Given the description of an element on the screen output the (x, y) to click on. 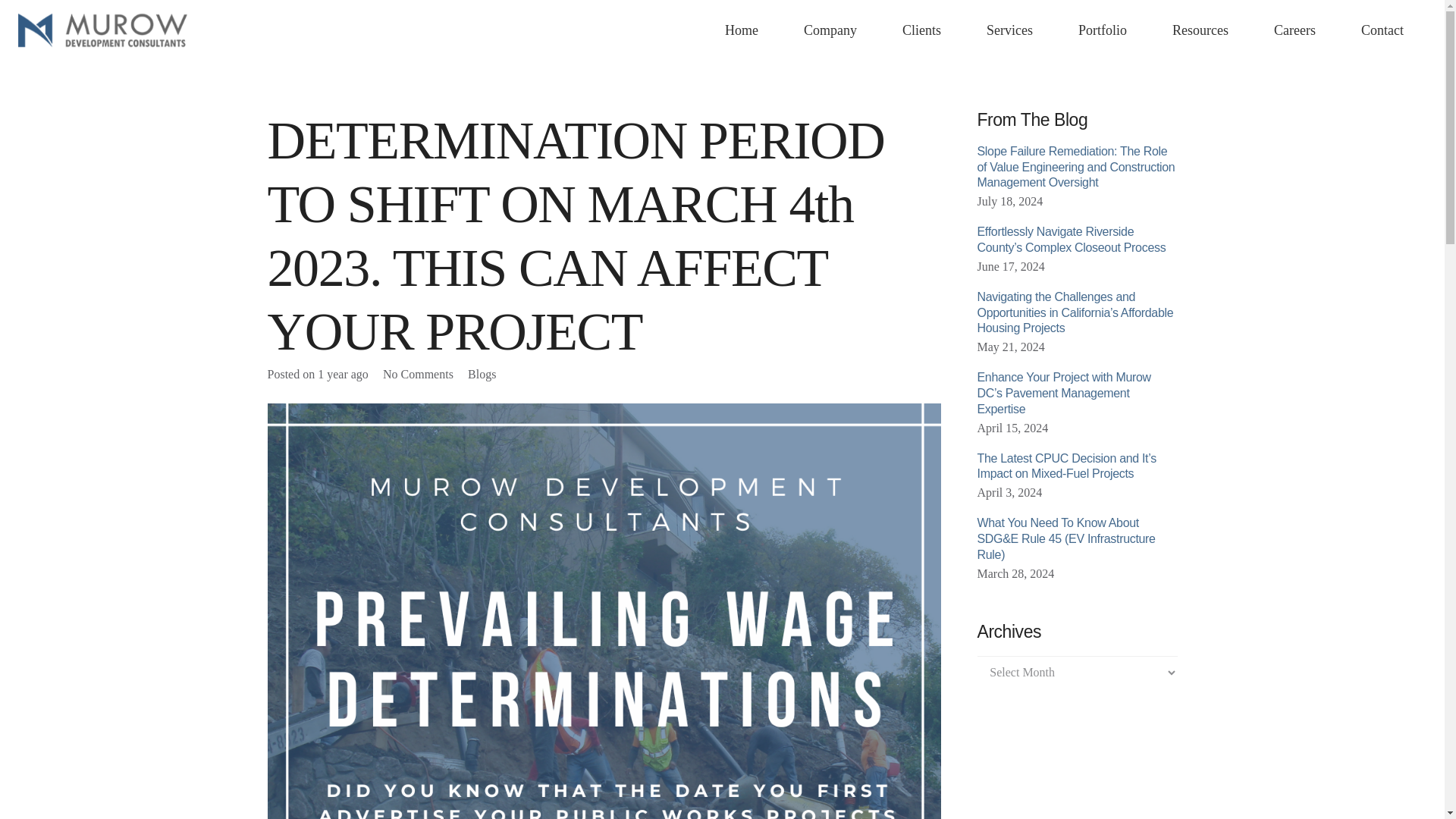
Blogs (481, 373)
Services (1009, 30)
Portfolio (1102, 30)
No Comments (417, 373)
Home (740, 30)
Contact (1382, 30)
Company (829, 30)
Careers (1294, 30)
Clients (921, 30)
Resources (1200, 30)
No Comments (417, 373)
